Given the description of an element on the screen output the (x, y) to click on. 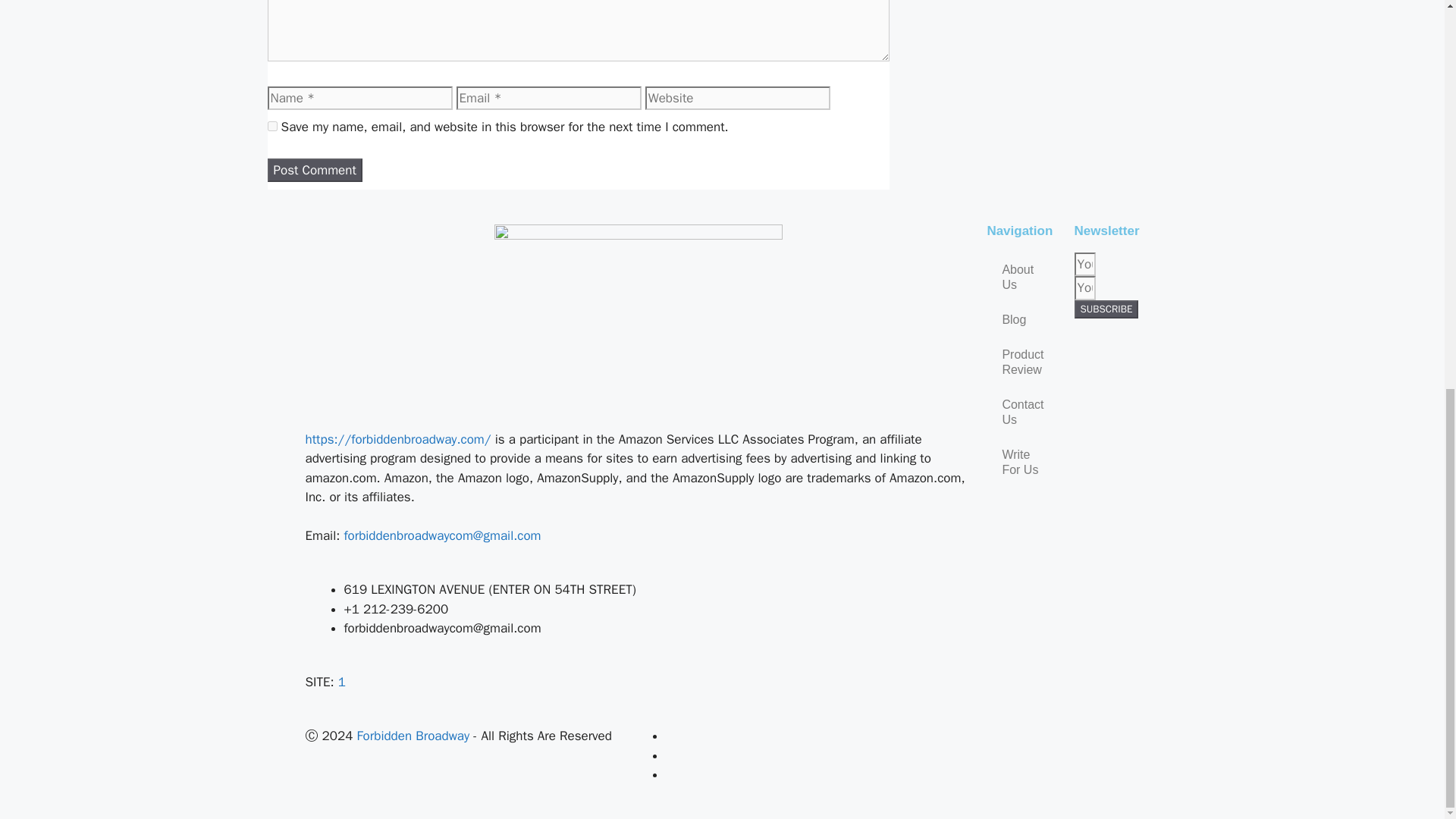
Post Comment (313, 170)
Scroll back to top (1406, 801)
yes (271, 126)
